Given the description of an element on the screen output the (x, y) to click on. 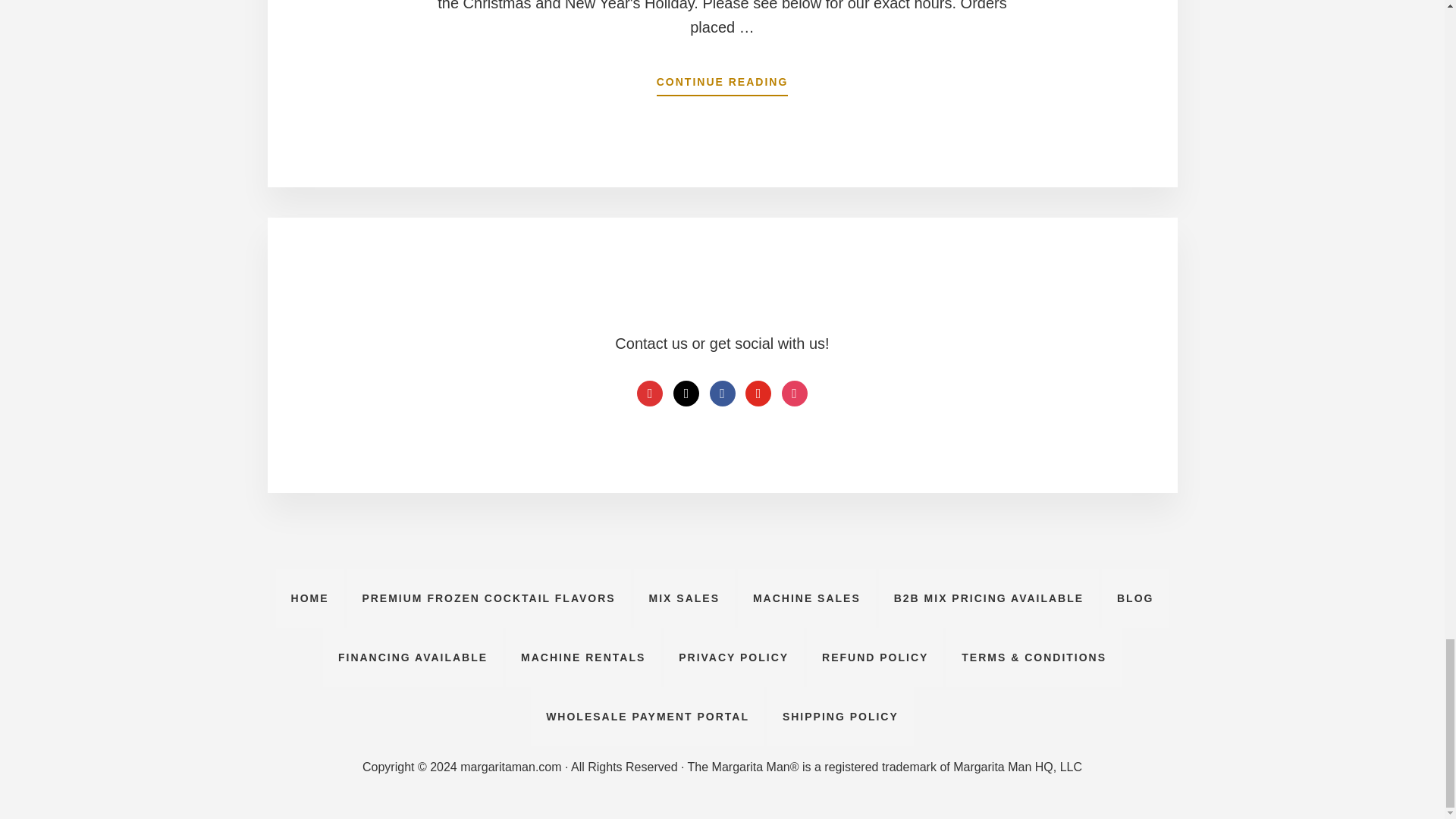
Facebook (722, 392)
Default Label (685, 392)
Default Label (649, 392)
Twitter (758, 392)
Instagram (794, 392)
